Given the description of an element on the screen output the (x, y) to click on. 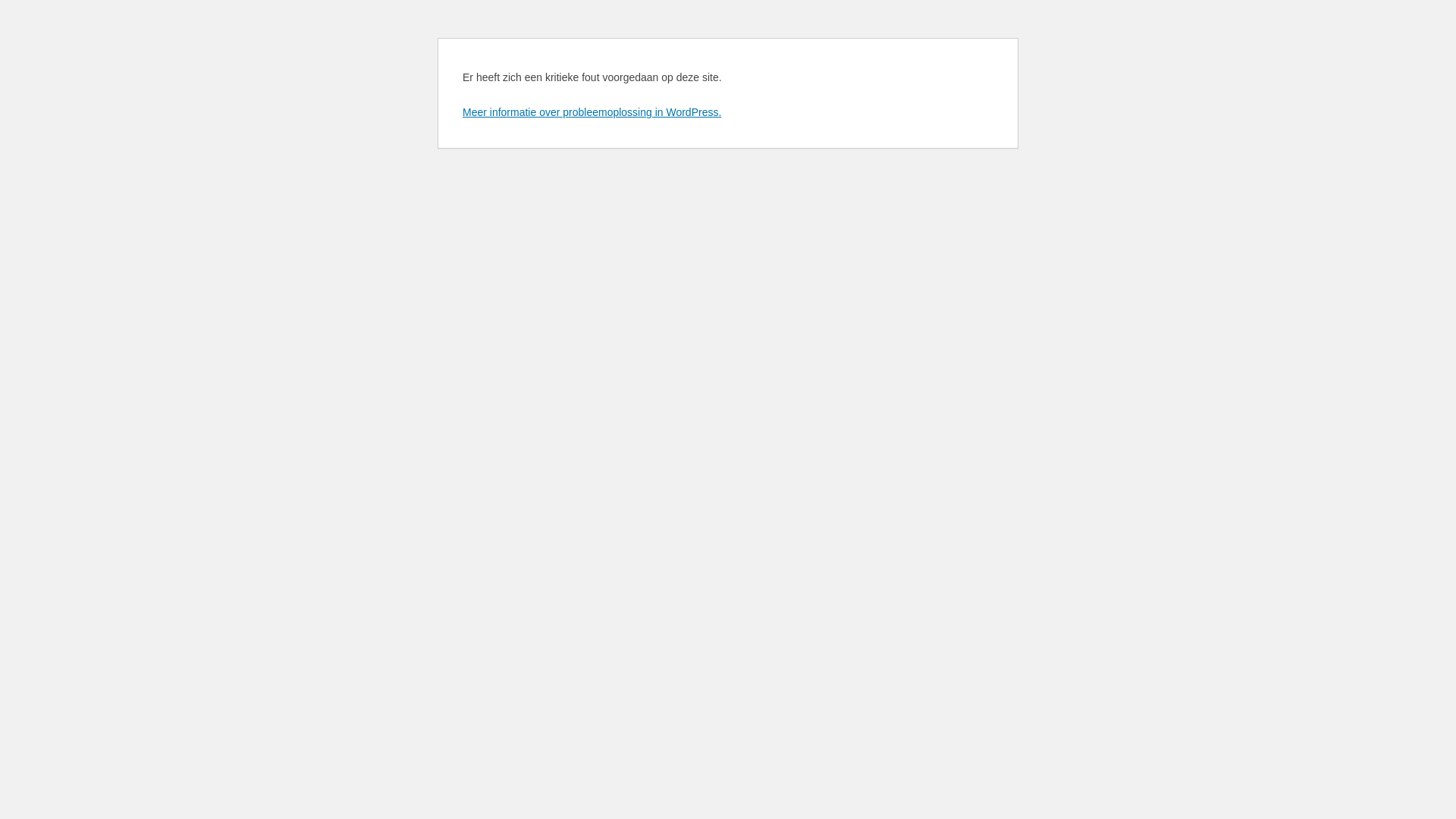
Meer informatie over probleemoplossing in WordPress. Element type: text (591, 112)
